Given the description of an element on the screen output the (x, y) to click on. 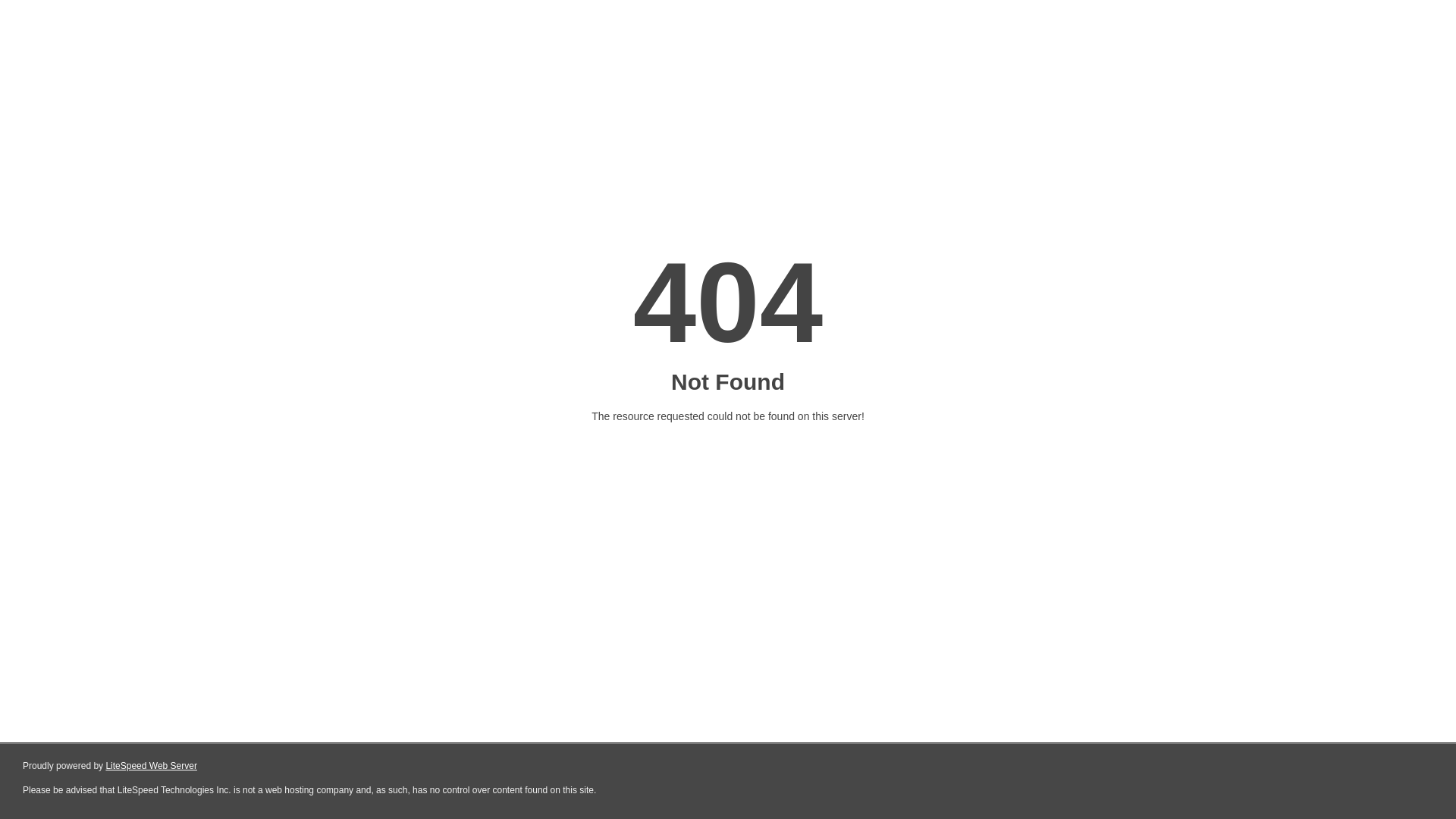
LiteSpeed Web Server Element type: text (151, 765)
